Given the description of an element on the screen output the (x, y) to click on. 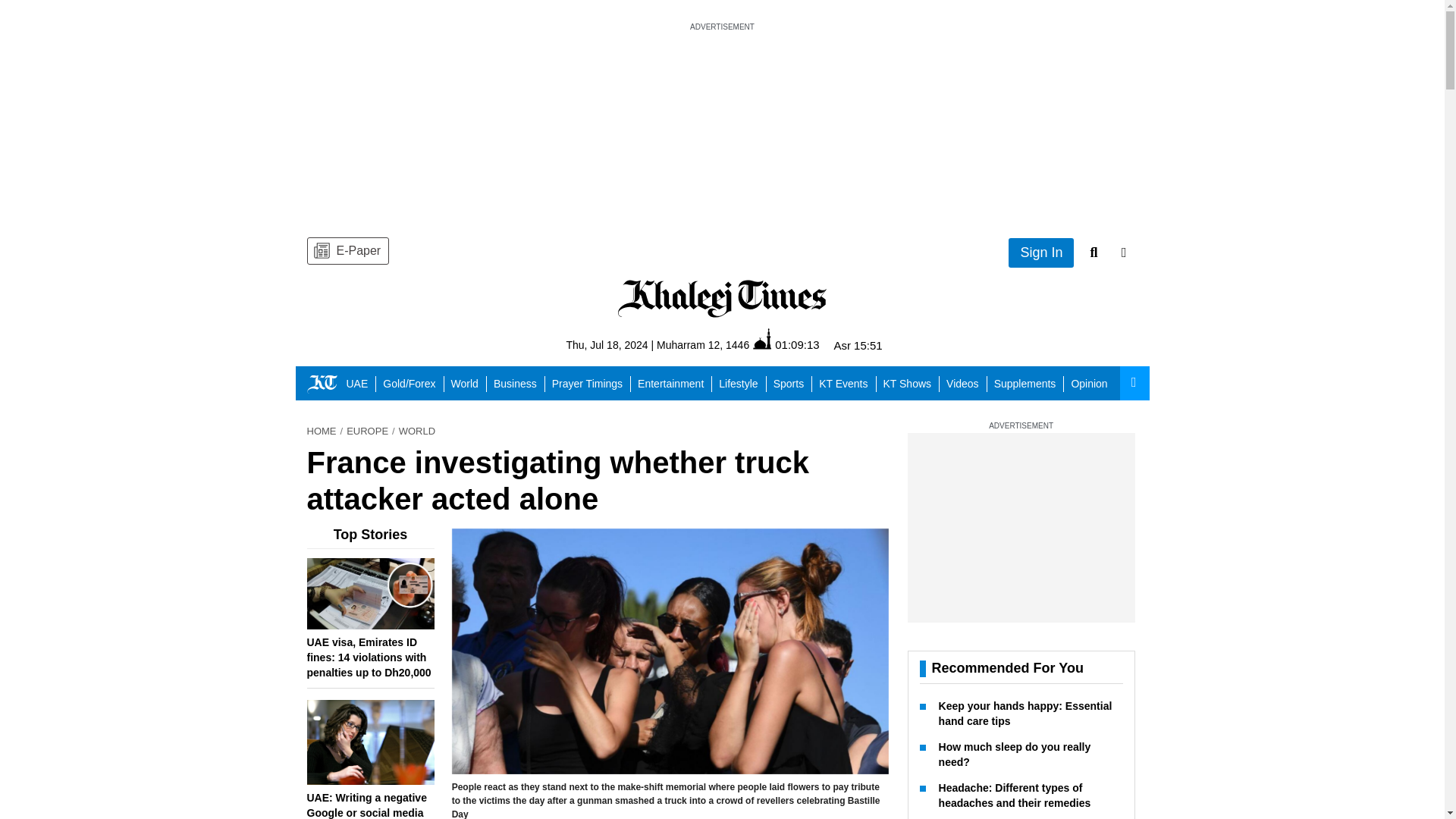
E-Paper (346, 250)
Sign In (1041, 252)
Asr 15:51 (857, 345)
01:09:13 (785, 344)
